Given the description of an element on the screen output the (x, y) to click on. 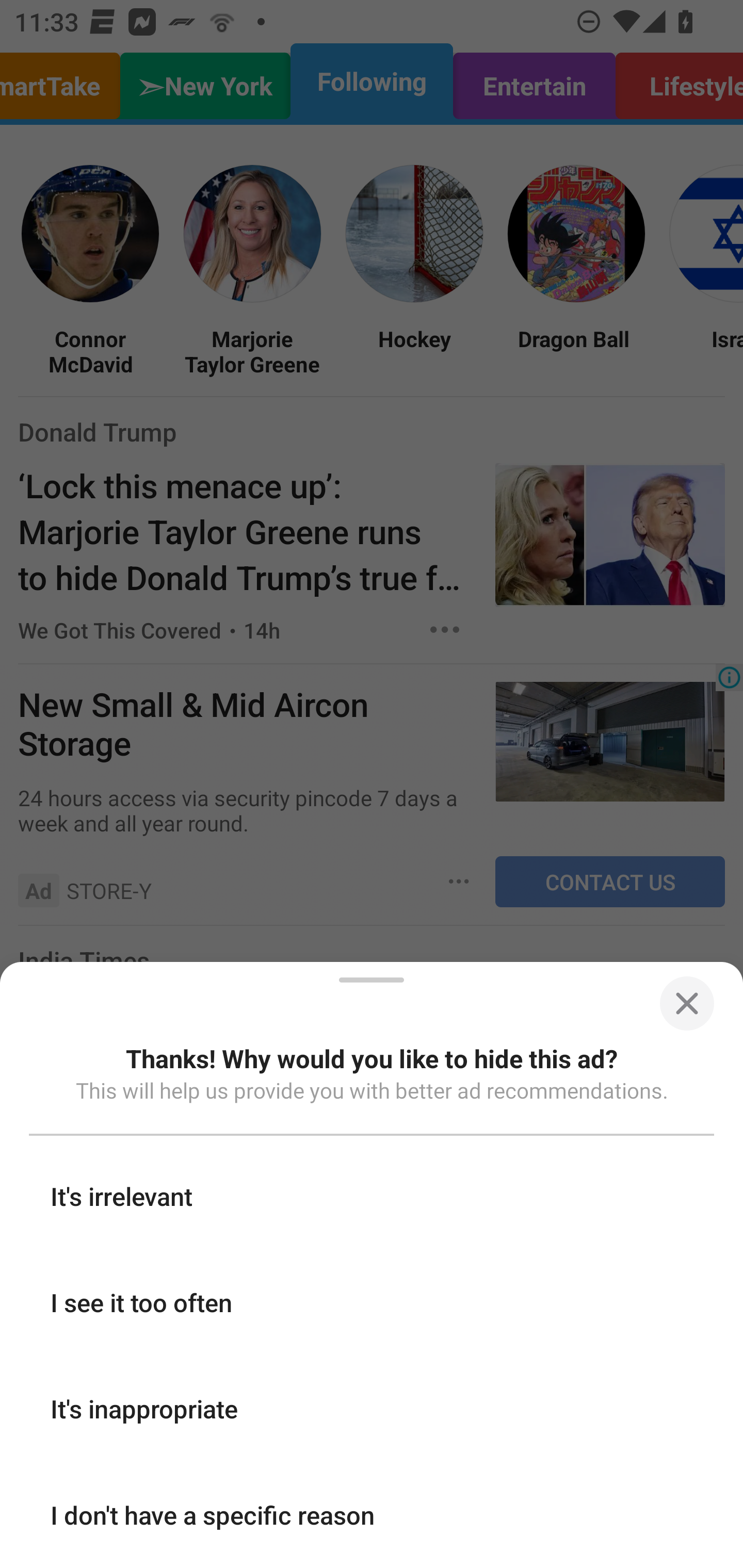
Close bottom sheet (686, 1003)
It's irrelevant (371, 1196)
I see it too often (371, 1301)
It's inappropriate (371, 1407)
I don't have a specific reason (371, 1514)
